Given the description of an element on the screen output the (x, y) to click on. 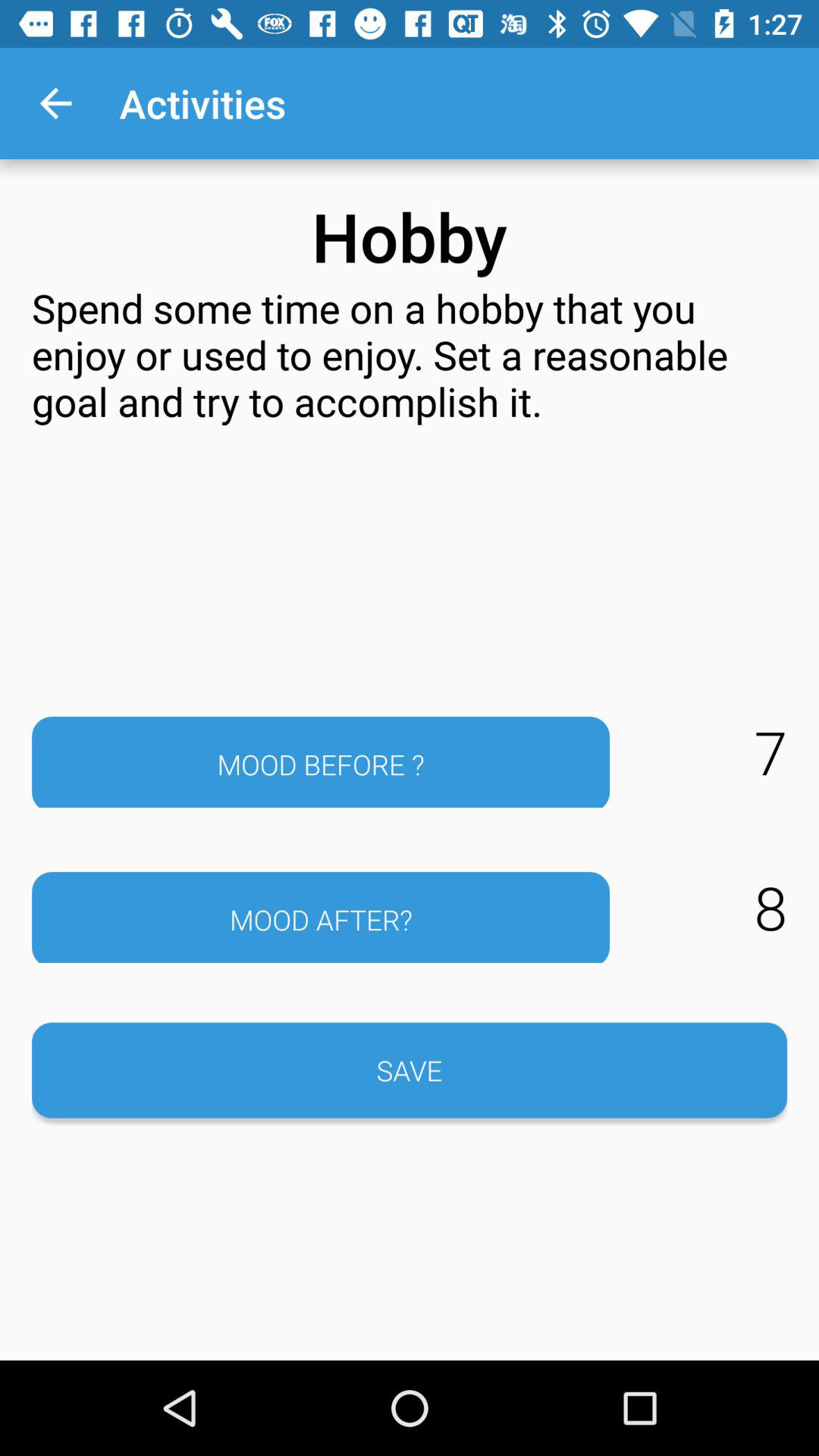
select the app to the left of activities icon (55, 103)
